Given the description of an element on the screen output the (x, y) to click on. 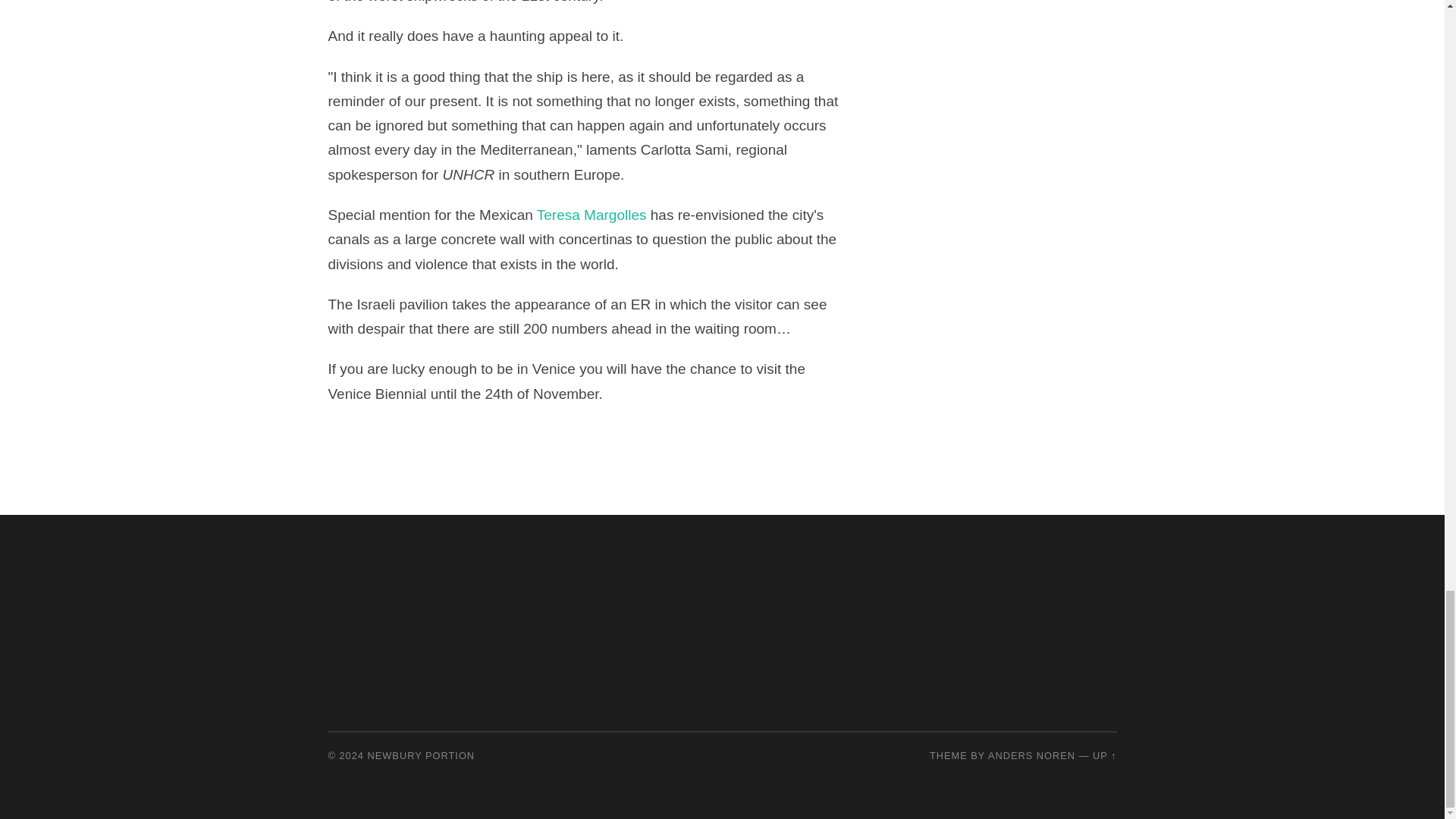
NEWBURY PORTION (422, 755)
ANDERS NOREN (1031, 755)
To the top (1104, 755)
Teresa Margolles (591, 214)
